Given the description of an element on the screen output the (x, y) to click on. 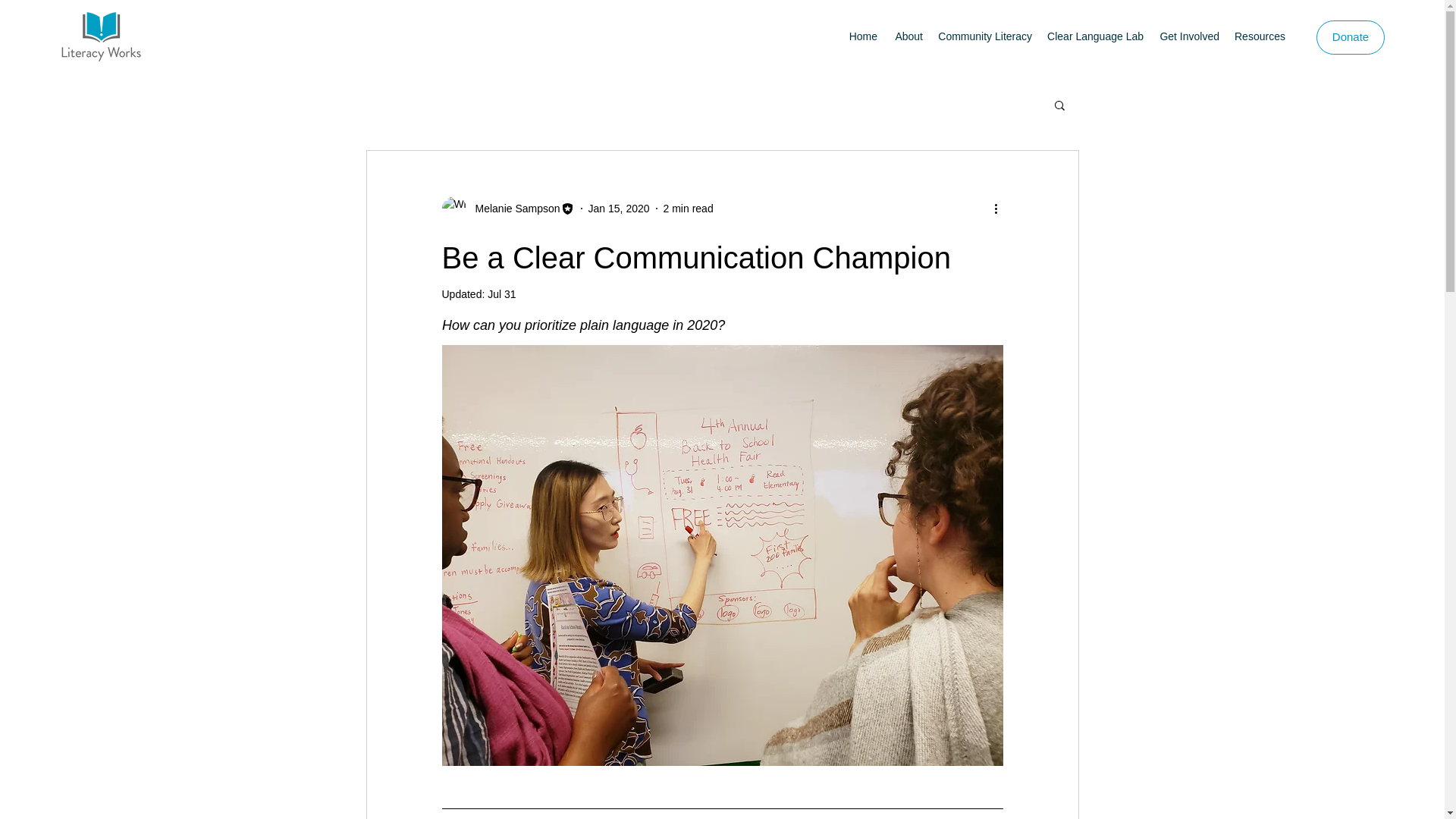
Donate (1350, 37)
Clear Language Lab (1095, 36)
Jul 31 (501, 294)
Jan 15, 2020 (618, 207)
Melanie Sampson (512, 207)
Home (863, 36)
Melanie Sampson (507, 208)
Community Literacy (984, 36)
2 min read (688, 207)
